Given the description of an element on the screen output the (x, y) to click on. 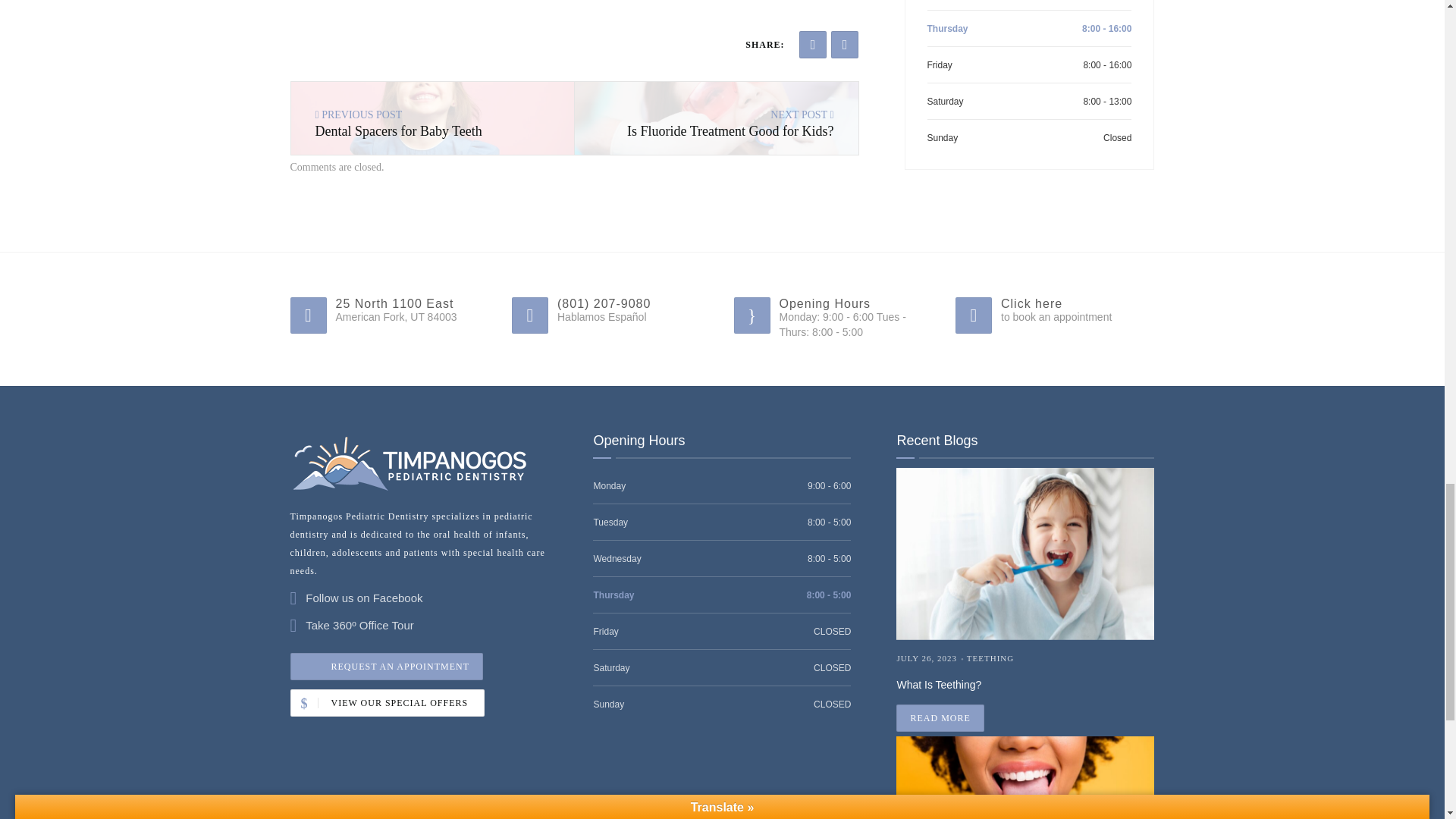
Tweet (845, 44)
Share on Facebook (813, 44)
What Is Teething? (1025, 681)
What Is Teething? (717, 117)
